Given the description of an element on the screen output the (x, y) to click on. 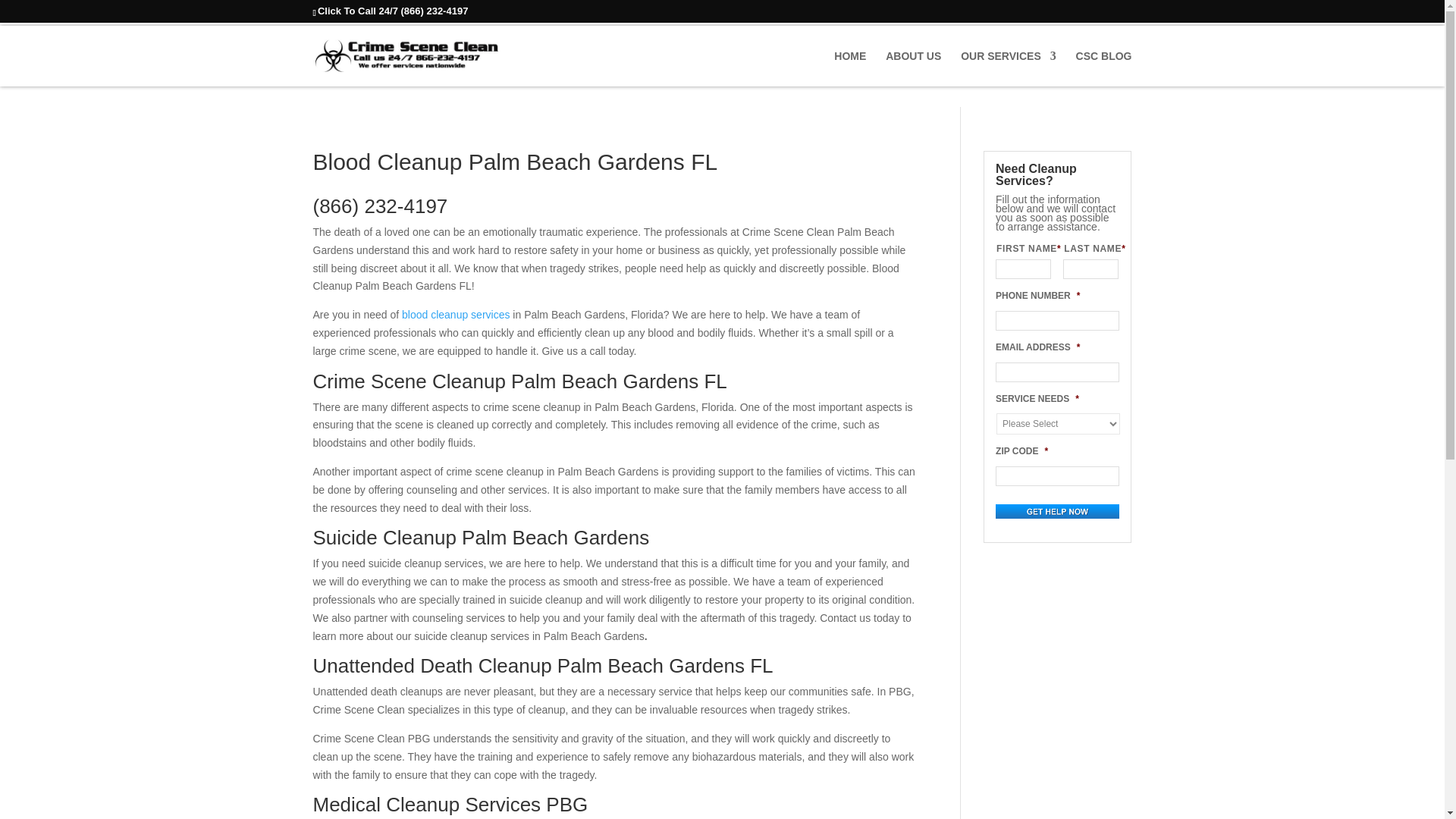
ABOUT US (912, 67)
OUR SERVICES (1008, 67)
blood cleanup services (455, 314)
HOME (850, 67)
CSC BLOG (1103, 67)
